Given the description of an element on the screen output the (x, y) to click on. 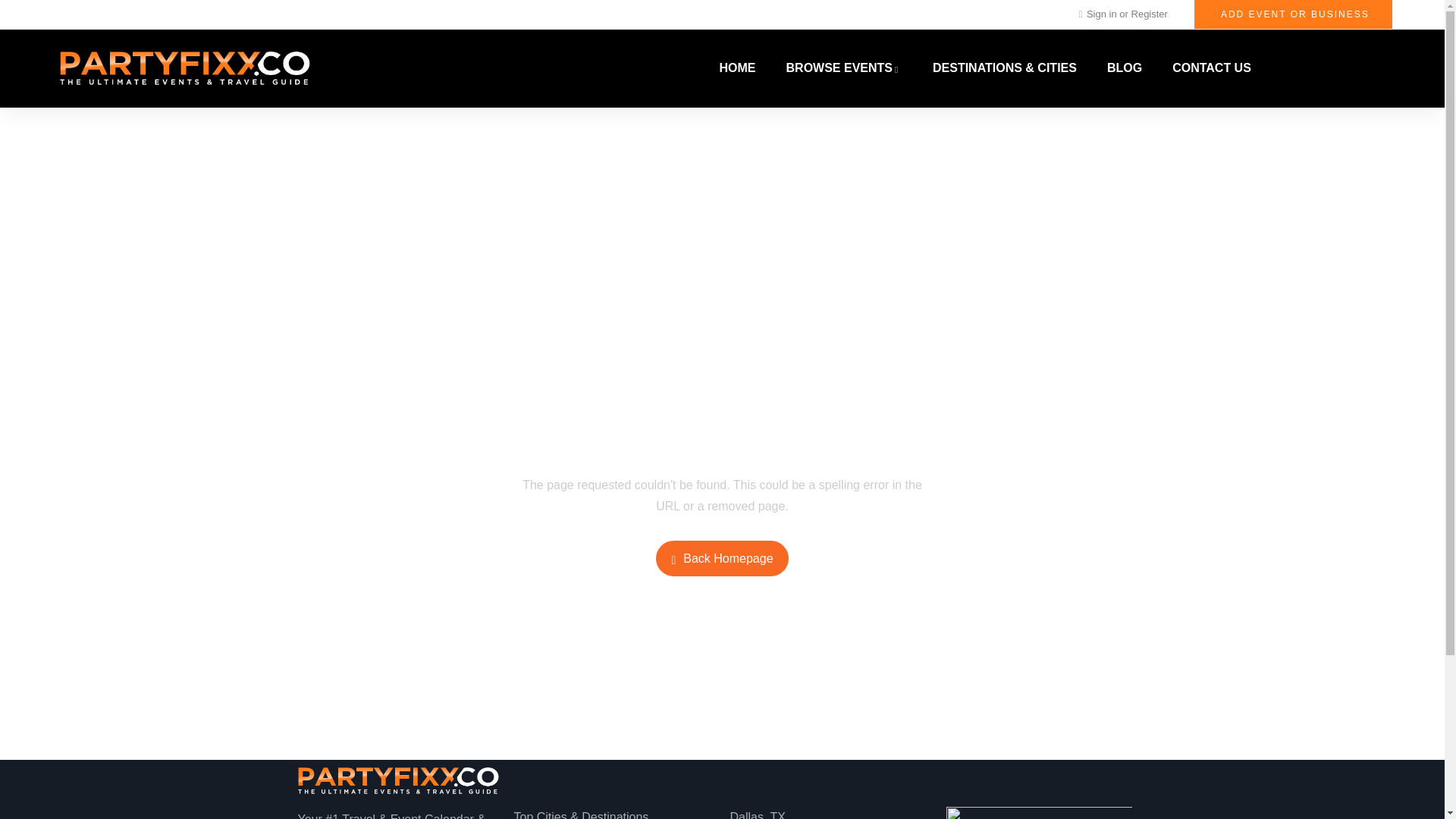
BROWSE EVENTS (844, 68)
Back Homepage (721, 558)
Home (397, 780)
Sign in (1102, 13)
CONTACT US (1211, 68)
Register (1149, 13)
ADD EVENT OR BUSINESS (1292, 14)
Dallas, TX (829, 812)
Home (184, 68)
